Given the description of an element on the screen output the (x, y) to click on. 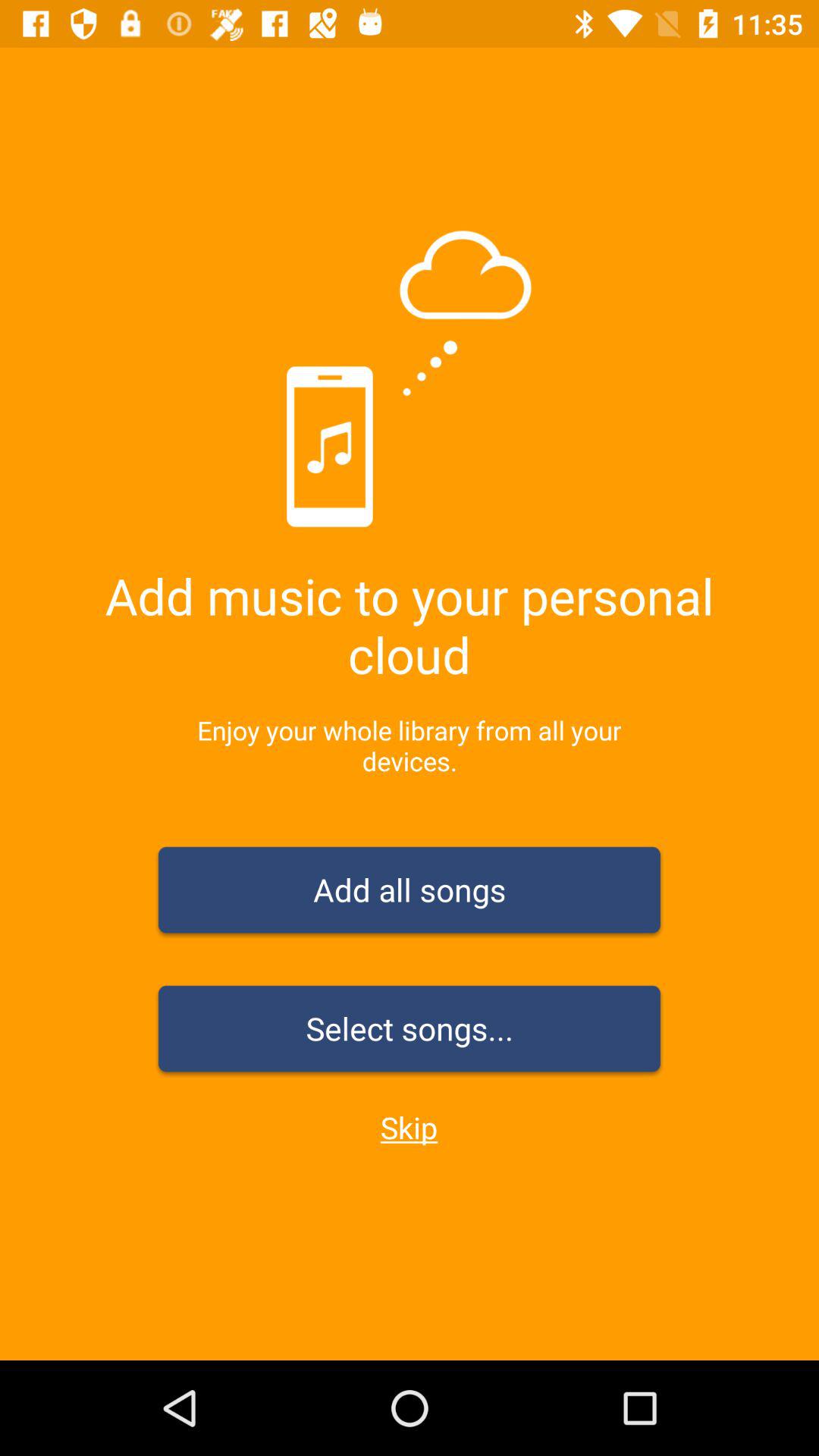
press the icon above skip item (409, 1031)
